Given the description of an element on the screen output the (x, y) to click on. 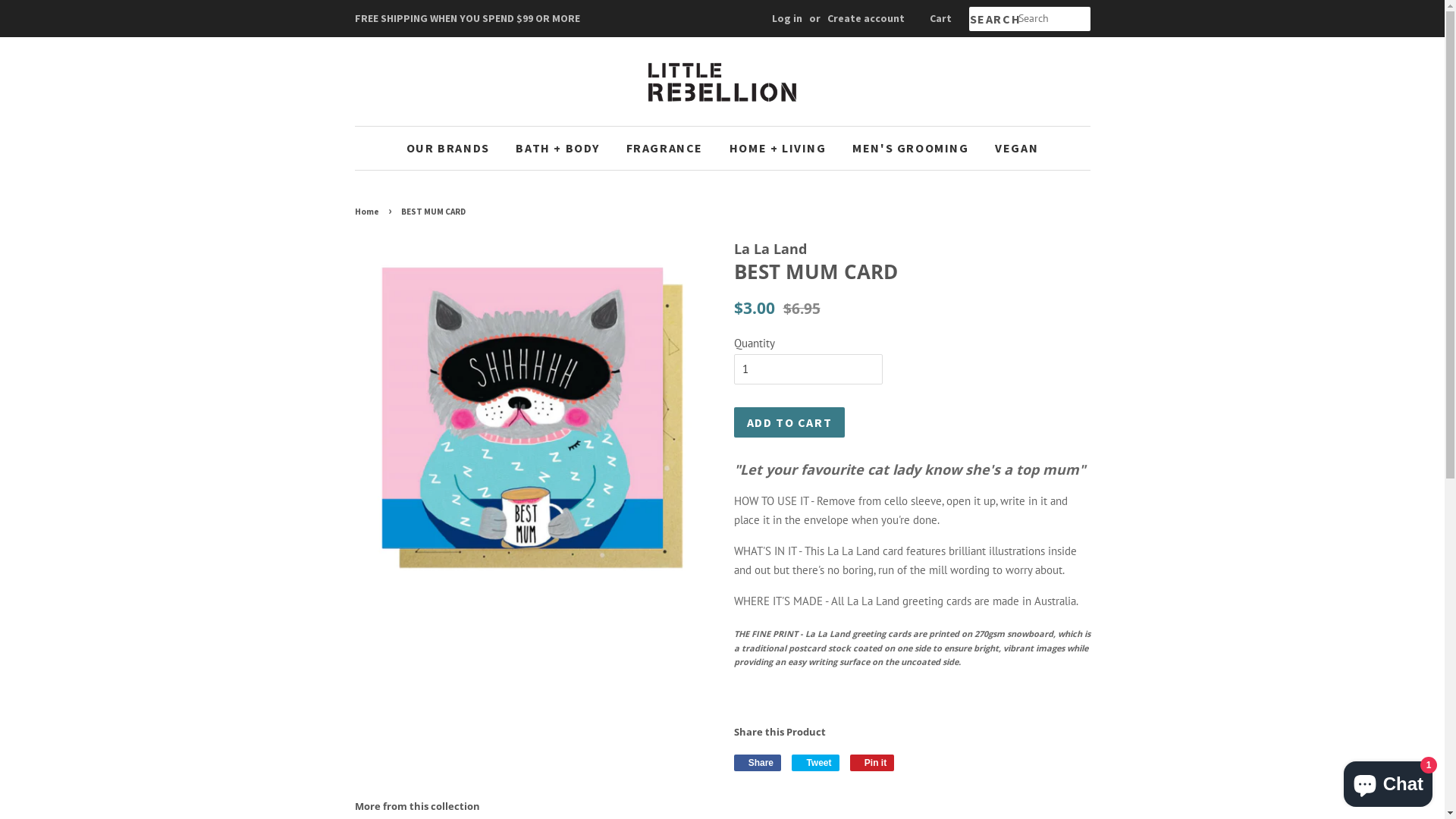
OUR BRANDS Element type: text (453, 147)
Home Element type: text (368, 211)
SEARCH Element type: text (993, 18)
BATH + BODY Element type: text (557, 147)
FRAGRANCE Element type: text (664, 147)
Tweet
Tweet on Twitter Element type: text (814, 762)
Share
Share on Facebook Element type: text (757, 762)
HOME + LIVING Element type: text (777, 147)
ADD TO CART Element type: text (789, 422)
Log in Element type: text (786, 18)
Create account Element type: text (864, 18)
Shopify online store chat Element type: hover (1388, 780)
MEN'S GROOMING Element type: text (909, 147)
Pin it
Pin on Pinterest Element type: text (872, 762)
VEGAN Element type: text (1010, 147)
Cart Element type: text (940, 18)
